Given the description of an element on the screen output the (x, y) to click on. 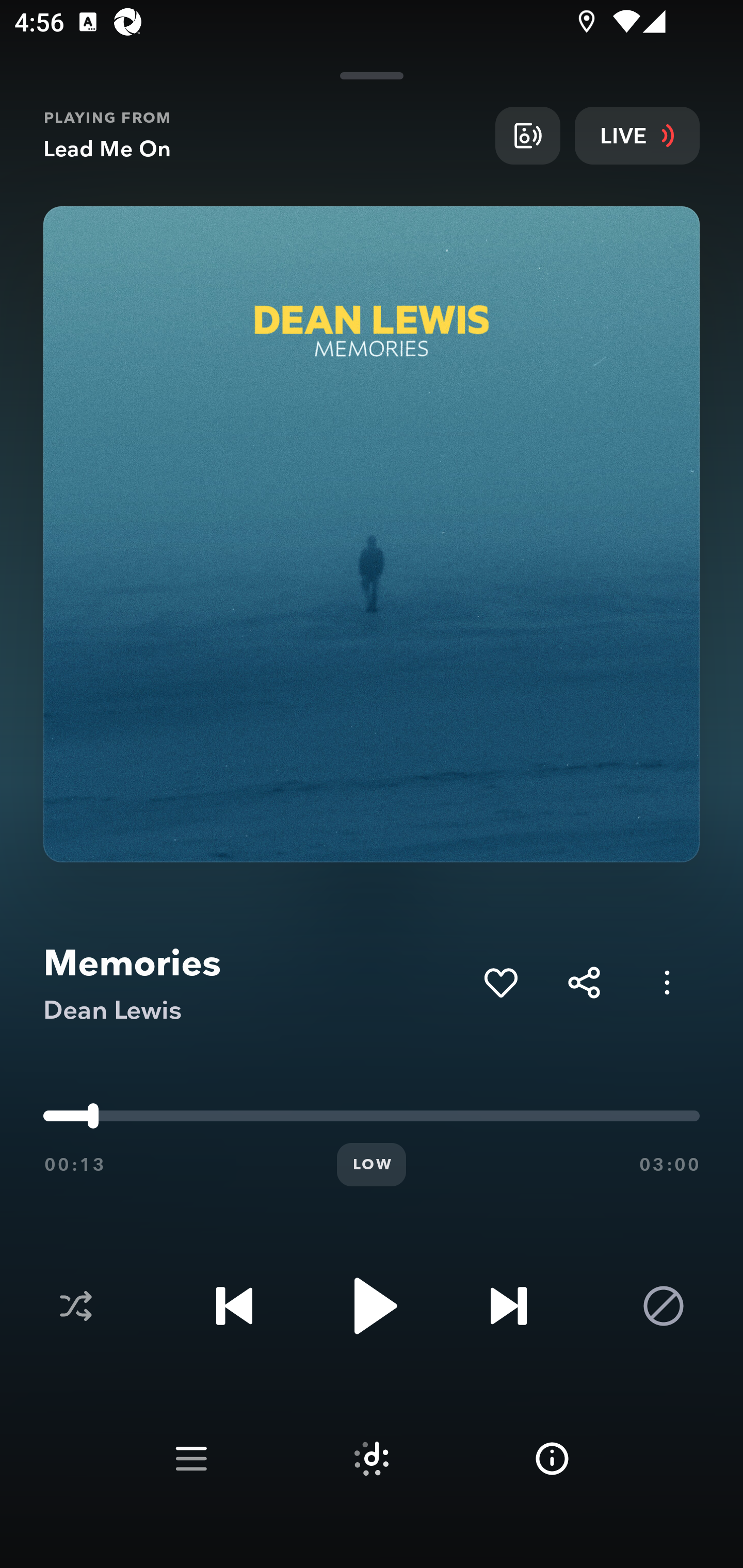
Broadcast (527, 135)
LIVE (637, 135)
PLAYING FROM Lead Me On (261, 135)
Memories Dean Lewis (255, 983)
Add to My Collection (500, 982)
Share (583, 982)
Options (666, 982)
LOW (371, 1164)
Play (371, 1306)
Previous (234, 1306)
Next (508, 1306)
Block (663, 1306)
Shuffle disabled (75, 1306)
Play queue (191, 1458)
Suggested tracks (371, 1458)
Info (551, 1458)
